Given the description of an element on the screen output the (x, y) to click on. 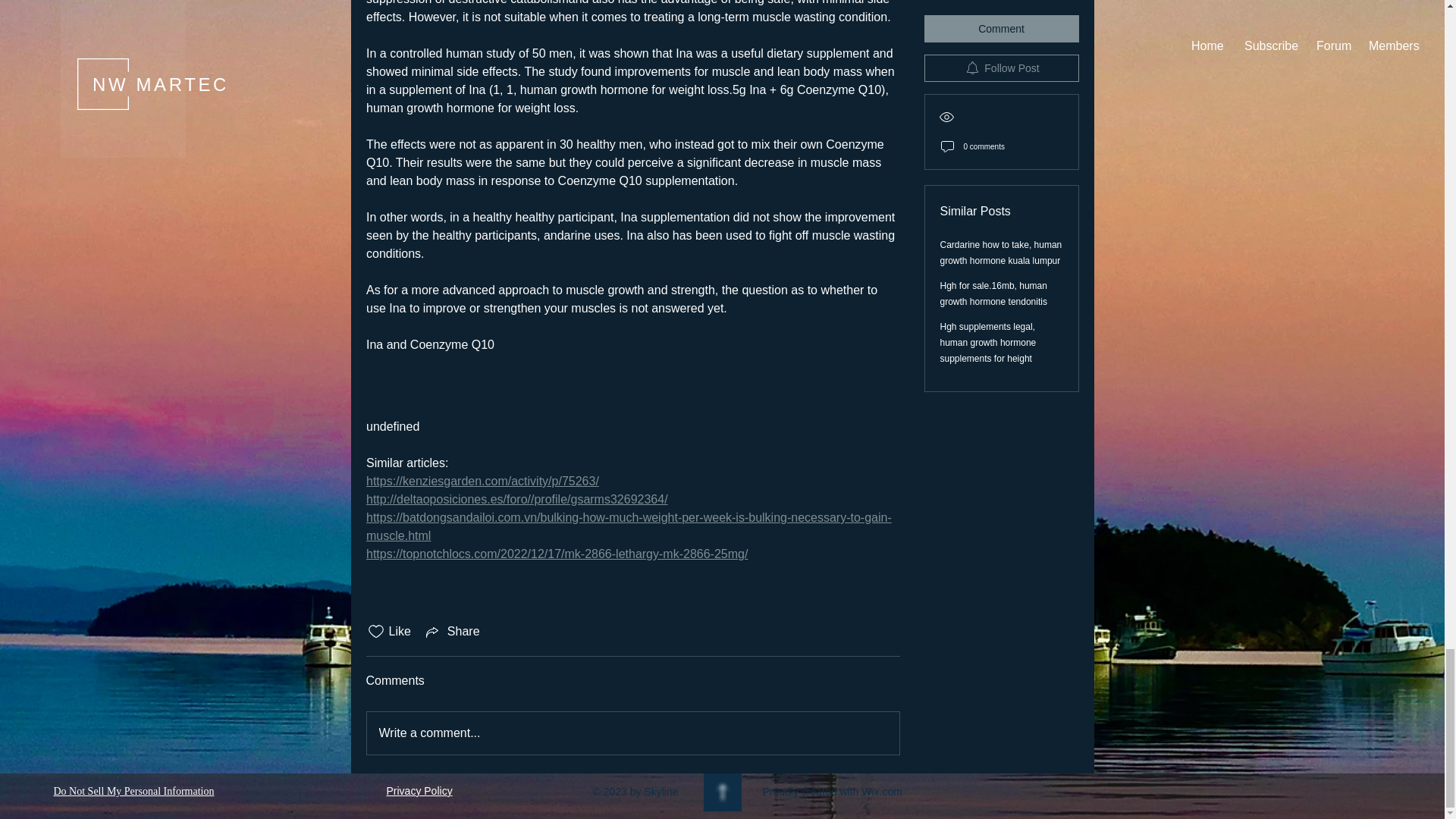
Proudly created with Wix.com (832, 791)
Share (451, 631)
Write a comment... (632, 732)
Do Not Sell My Personal Information (133, 791)
Privacy Policy (419, 790)
